Given the description of an element on the screen output the (x, y) to click on. 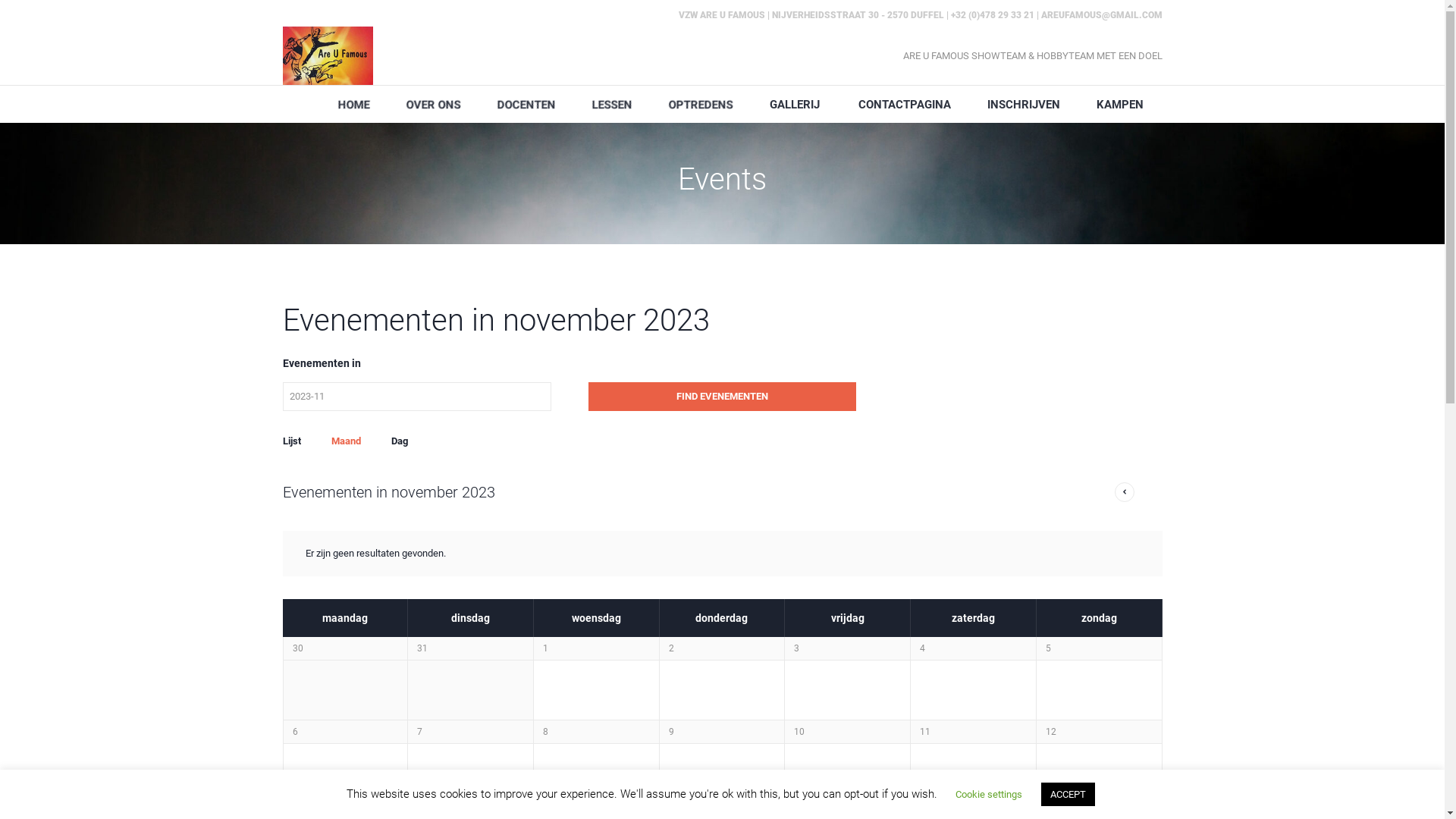
OPTREDENS Element type: text (698, 103)
KAMPEN Element type: text (1117, 103)
GALLERIJ Element type: text (792, 103)
INSCHRIJVEN Element type: text (1021, 103)
OVER ONS Element type: text (431, 103)
YouTube Element type: hover (726, 679)
Cookie settings Element type: text (988, 794)
DOCENTEN Element type: text (524, 103)
Facebook Element type: hover (682, 679)
Find Evenementen Element type: text (722, 396)
HOME Element type: text (352, 103)
Are U Famous Element type: hover (721, 600)
Are U Famous Element type: hover (327, 55)
Instagram Element type: hover (768, 679)
LESSEN Element type: text (610, 103)
ACCEPT Element type: text (1067, 794)
oktober Element type: text (1124, 492)
Privacy Element type: text (641, 731)
CONTACTPAGINA Element type: text (902, 103)
